Given the description of an element on the screen output the (x, y) to click on. 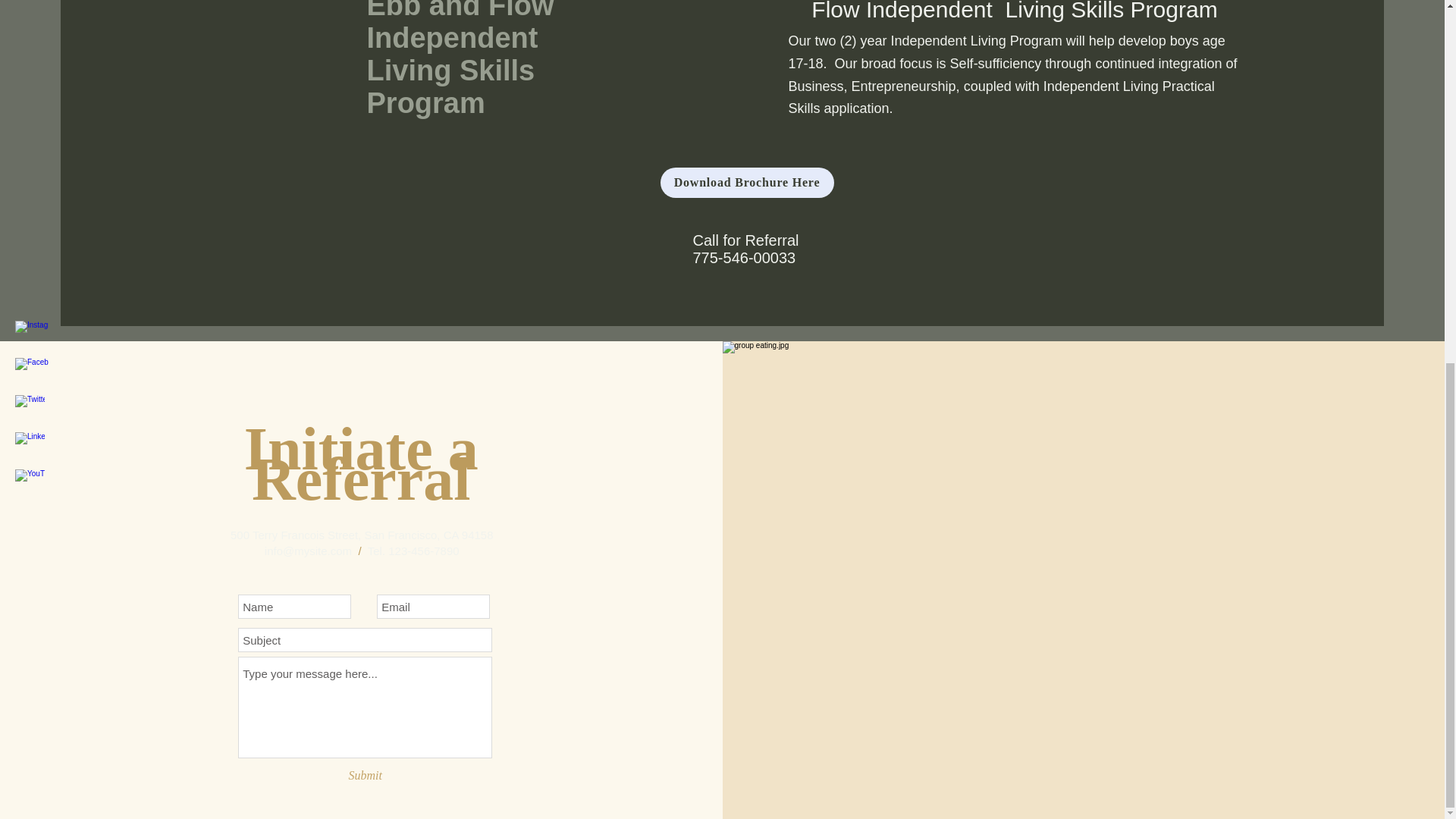
Submit (365, 775)
Download Brochure Here (745, 182)
